Given the description of an element on the screen output the (x, y) to click on. 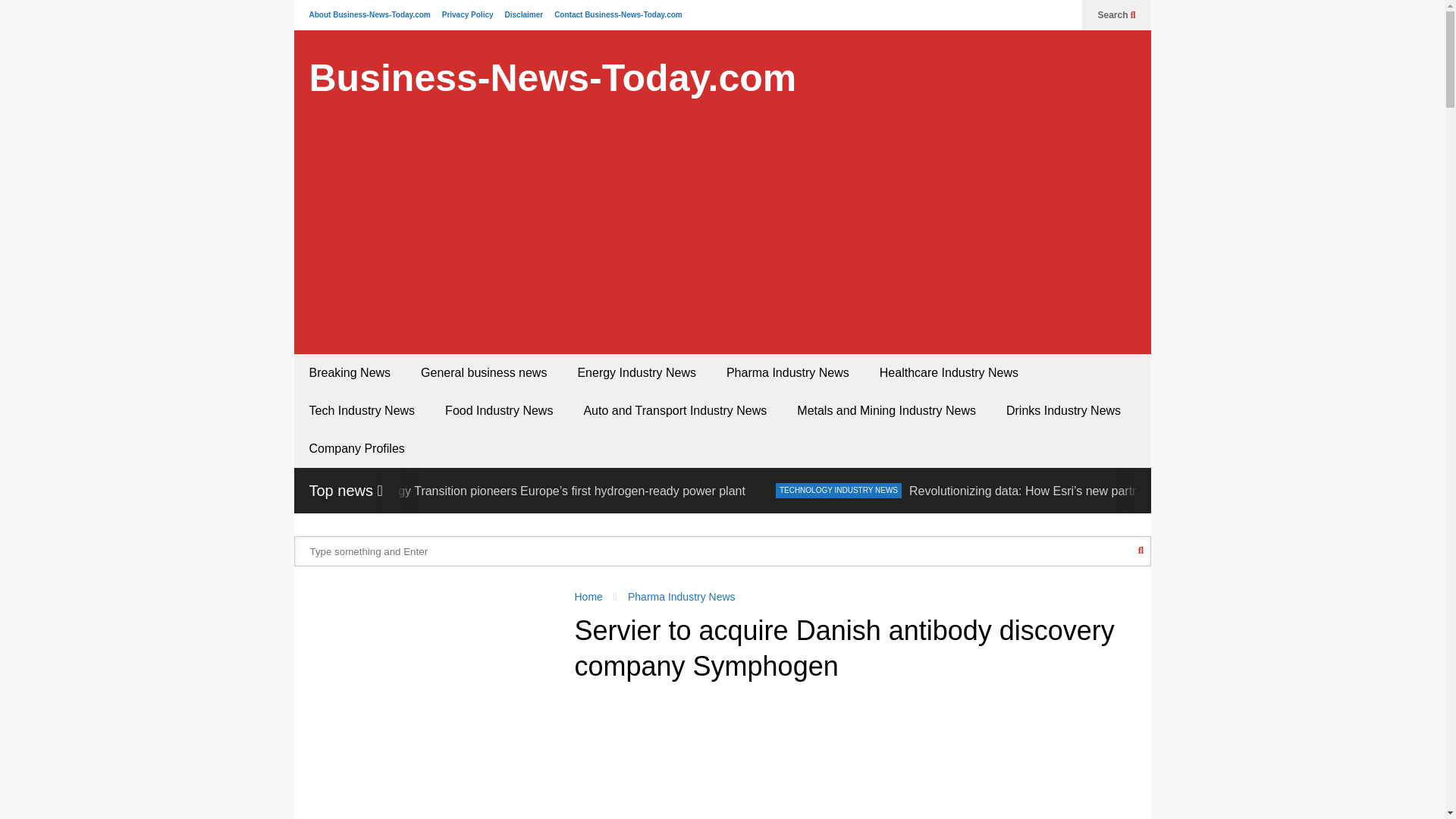
Energy Industry News (278, 490)
Breaking News (350, 372)
Business-News-Today.com (552, 78)
Pharma Industry News (787, 372)
Contact Business-News-Today.com (618, 14)
ENERGY INDUSTRY NEWS (278, 490)
Drinks Industry News (1063, 410)
Advertisement (851, 759)
About Business-News-Today.com (369, 14)
Search (1116, 15)
Privacy Policy (467, 14)
Healthcare Industry News (948, 372)
Metals and Mining Industry News (886, 410)
Energy Industry News (636, 372)
Tech Industry News (362, 410)
